Given the description of an element on the screen output the (x, y) to click on. 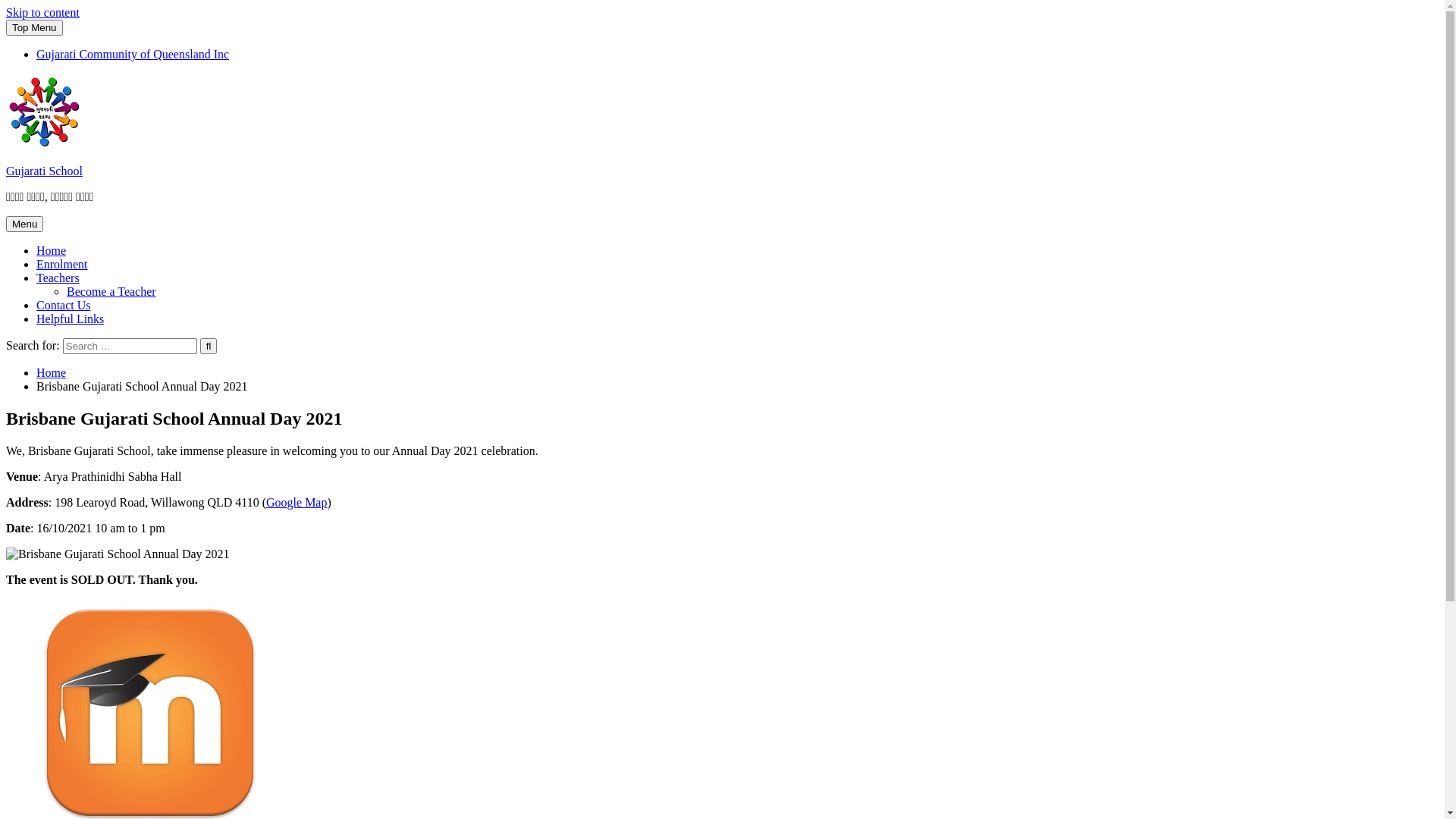
Home Element type: text (50, 250)
Contact Us Element type: text (63, 304)
Menu Element type: text (24, 224)
Become a Teacher Element type: text (111, 291)
Skip to content Element type: text (42, 12)
Google Map Element type: text (296, 501)
Home Element type: text (50, 372)
Gujarati Community of Queensland Inc Element type: text (132, 53)
Helpful Links Element type: text (69, 318)
Teachers Element type: text (57, 277)
Top Menu Element type: text (34, 27)
Enrolment Element type: text (61, 263)
Gujarati School Element type: text (44, 170)
